Given the description of an element on the screen output the (x, y) to click on. 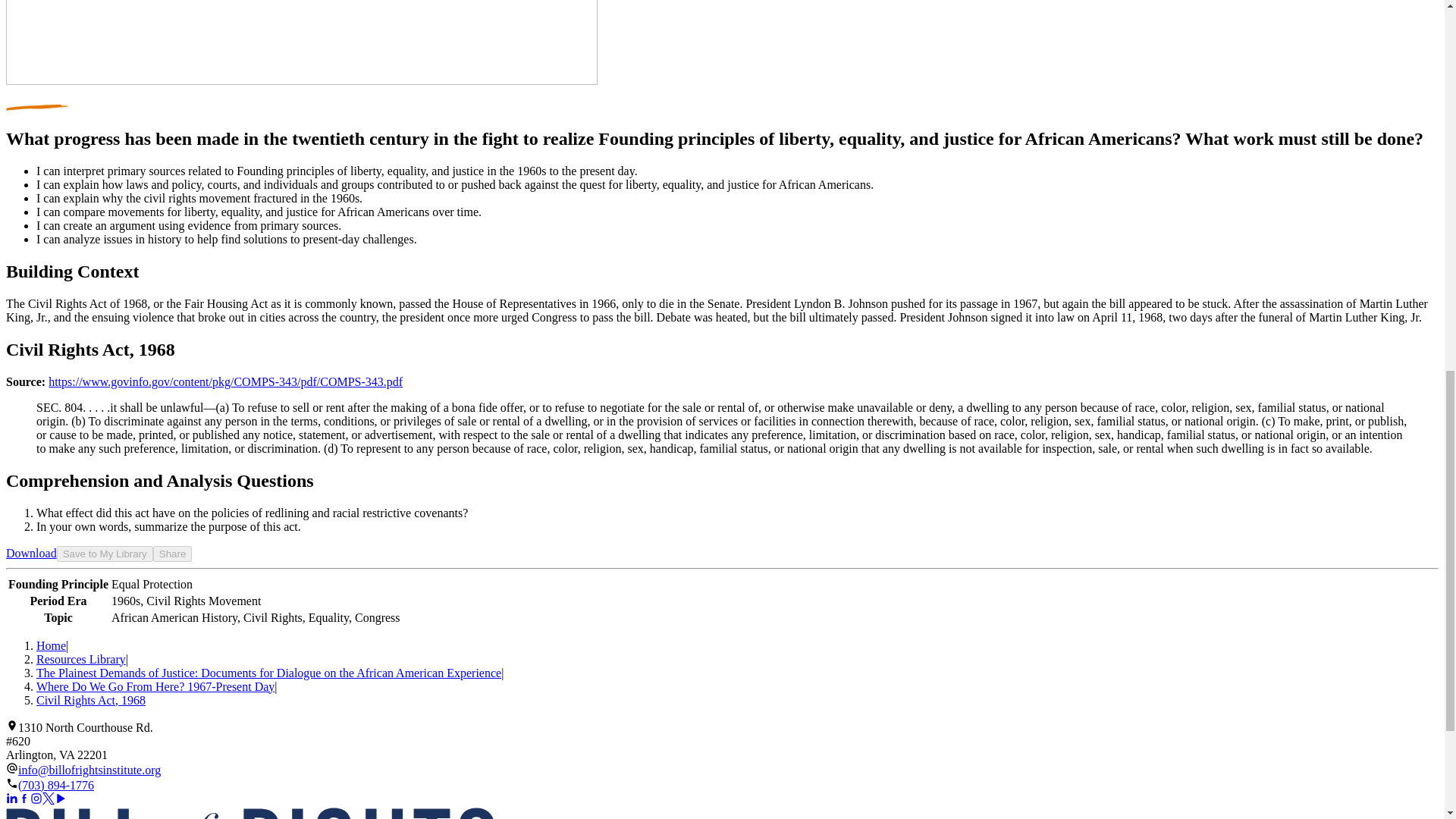
Follow us on youtube (60, 797)
Follow us on linkedin (11, 797)
Follow us on instagram (36, 797)
Follow us on facebook (23, 797)
Email icon (11, 767)
Phone icon (11, 782)
Follow us on twitter (48, 797)
Address icon (11, 725)
